Given the description of an element on the screen output the (x, y) to click on. 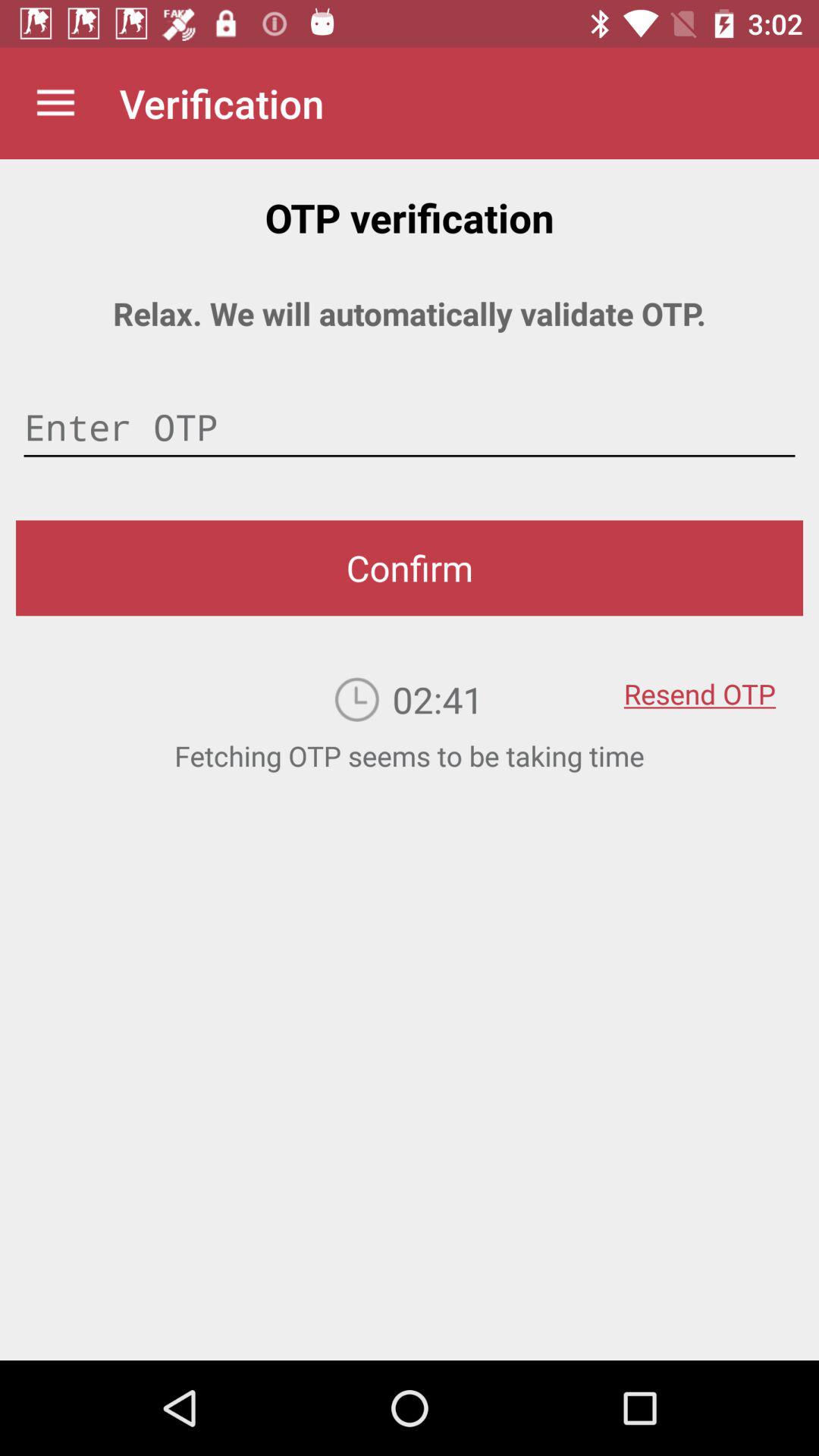
click item on the right (699, 683)
